Given the description of an element on the screen output the (x, y) to click on. 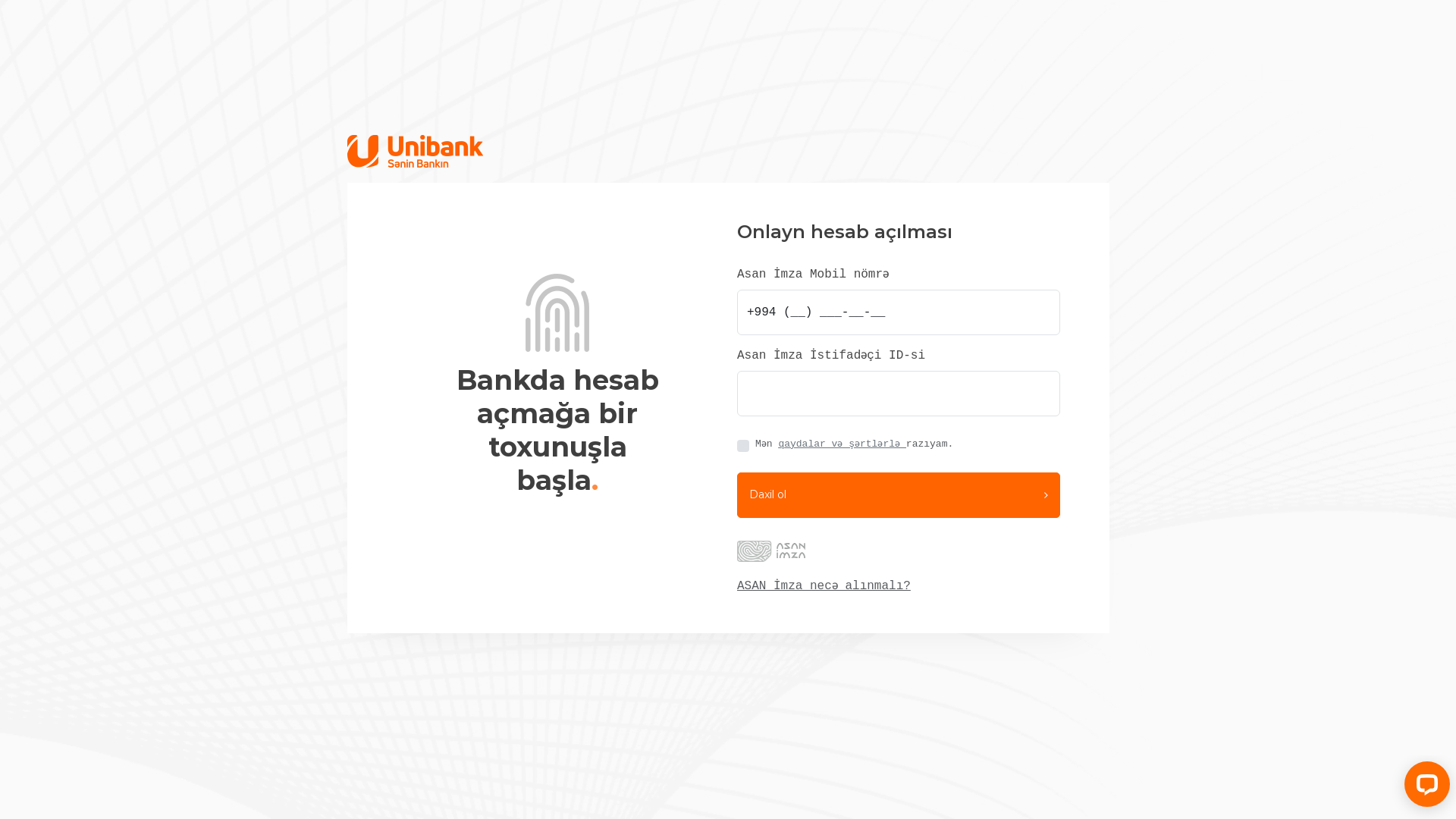
Daxil ol Element type: text (898, 494)
